Given the description of an element on the screen output the (x, y) to click on. 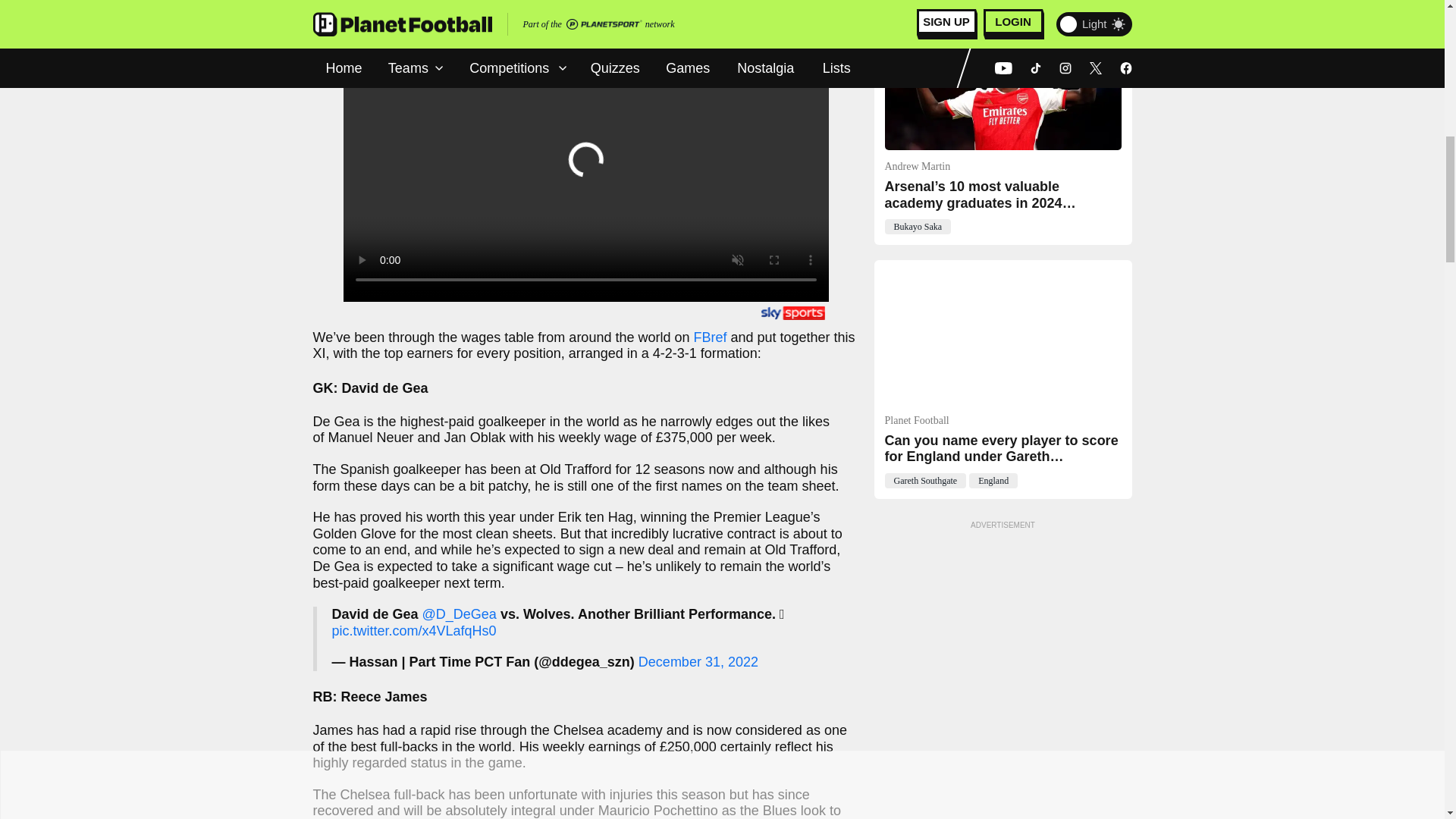
3rd party ad content (1002, 628)
